Given the description of an element on the screen output the (x, y) to click on. 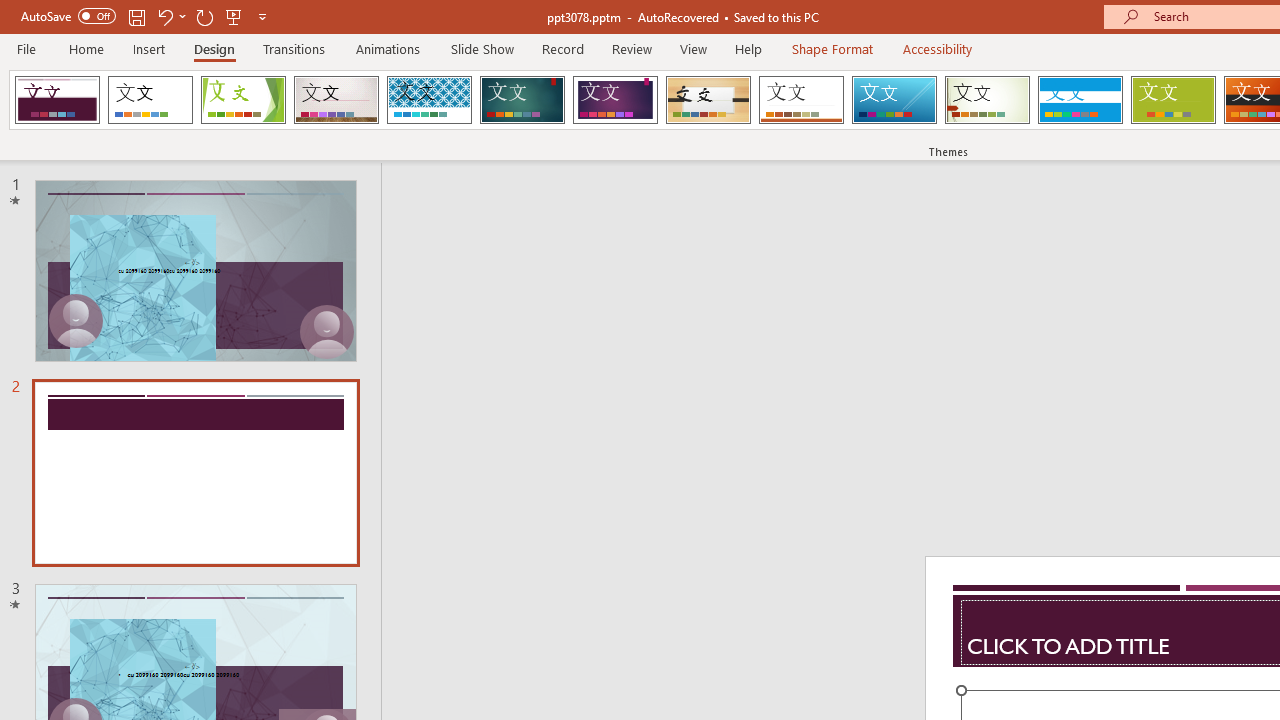
Office Theme (150, 100)
Integral (429, 100)
Retrospect (801, 100)
Gallery (336, 100)
Ion (522, 100)
Basis (1172, 100)
Facet (243, 100)
